Given the description of an element on the screen output the (x, y) to click on. 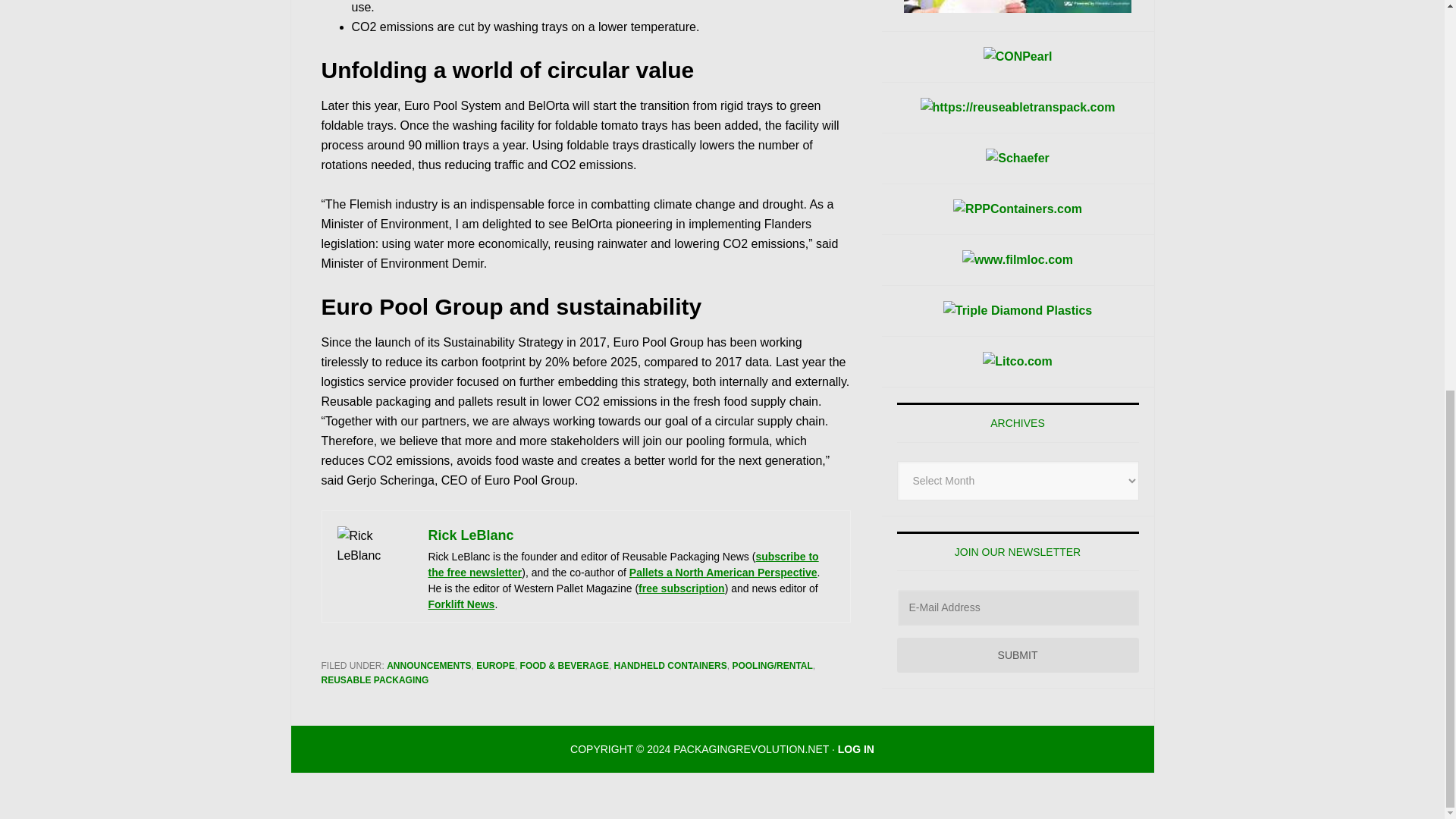
ANNOUNCEMENTS (428, 665)
Schaefer (1017, 158)
SUBMIT (1017, 655)
HANDHELD CONTAINERS (670, 665)
Triple Diamond Plastics (1018, 311)
RPPContainers.com (1017, 209)
Litco.com (1017, 361)
CONPearl (1018, 56)
Orbis (1017, 6)
REUSABLE PACKAGING (375, 679)
EUROPE (495, 665)
www.filmloc.com (1017, 260)
subscribe to the free newsletter (623, 564)
BelOrta Opens Euro Pool System Wash Plant in Belgium 2 (374, 563)
Rick LeBlanc (470, 534)
